Given the description of an element on the screen output the (x, y) to click on. 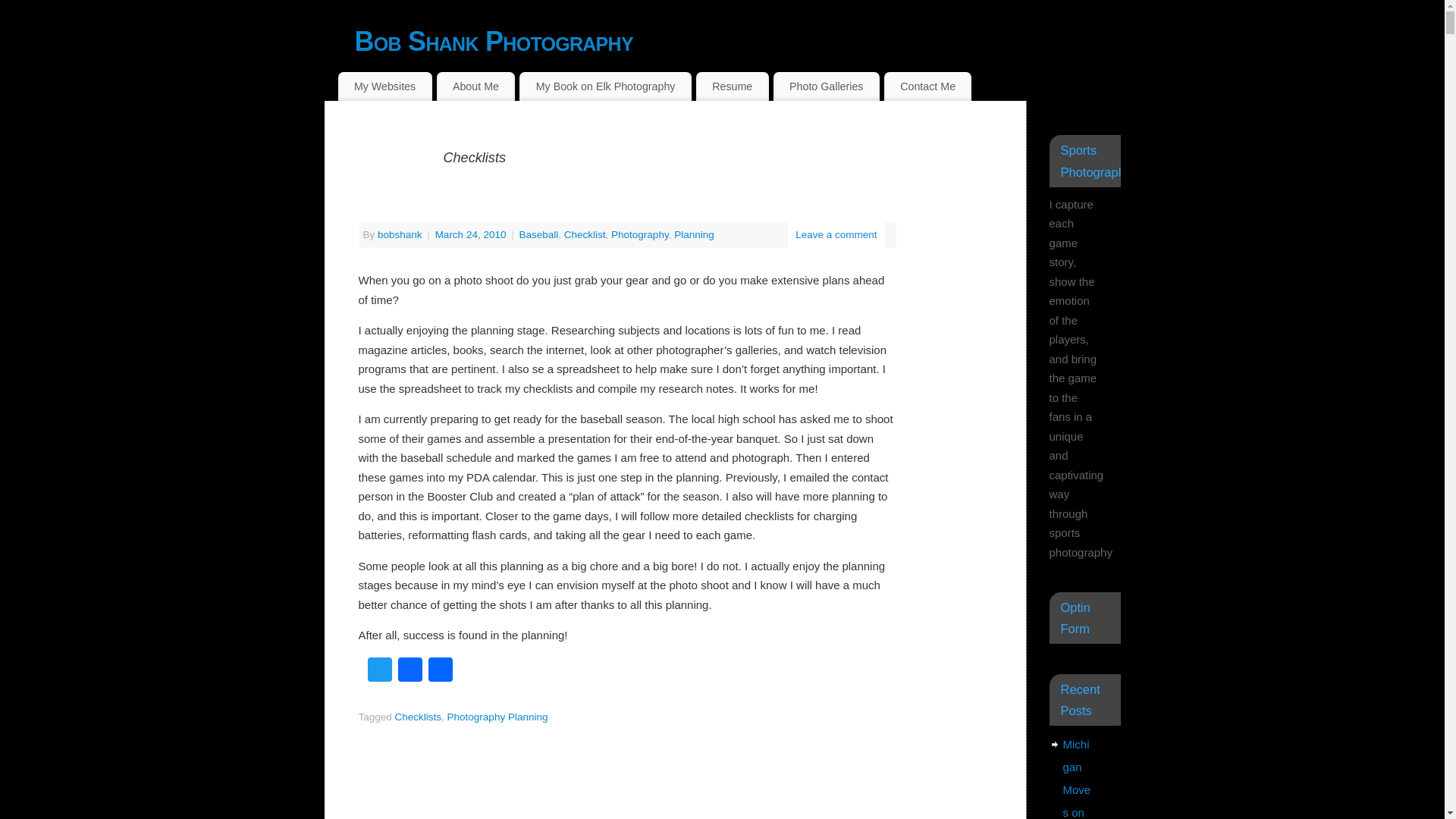
Leave a comment (835, 234)
Baseball (537, 234)
Resume (731, 86)
10:10 pm (472, 234)
View all posts by bobshank (399, 234)
Twitter (379, 671)
Planning (694, 234)
bobshank (399, 234)
Contact Me (927, 86)
Checklists (418, 716)
